Given the description of an element on the screen output the (x, y) to click on. 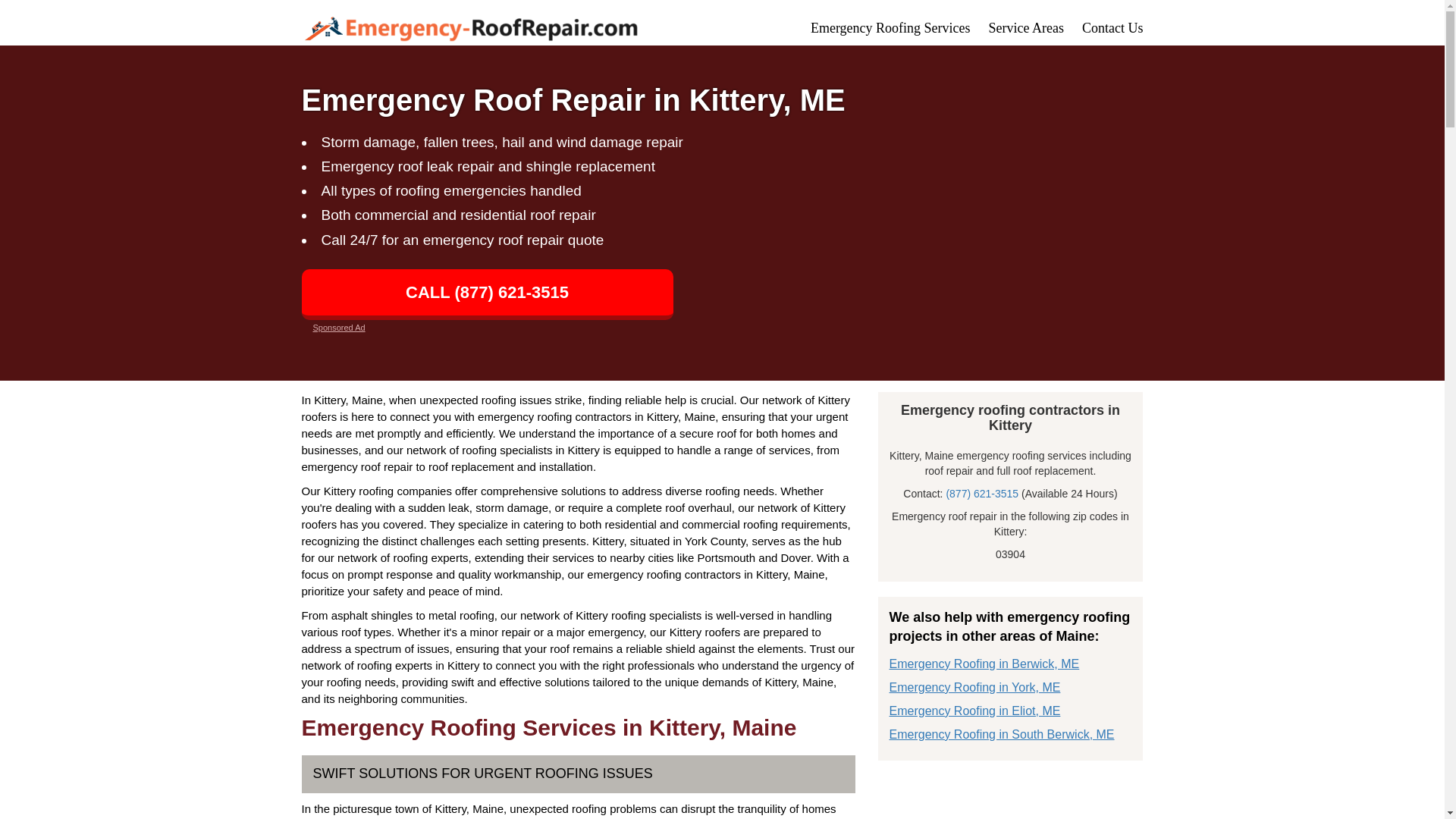
Contact Us (1111, 28)
Service Areas (1026, 28)
Emergency Roofing in York, ME (973, 686)
Emergency Roofing Services (890, 28)
Get a Quote (1111, 28)
Service Areas (1026, 28)
Sponsored Ad (339, 327)
Emergency roof repair in South Berwick, ME (1000, 734)
Emergency roof repair in York, ME (973, 686)
Emergency Roofing Services (890, 28)
Emergency Roofing in Eliot, ME (973, 710)
Emergency Roofing in Berwick, ME (983, 663)
Emergency roof repair in Berwick, ME (983, 663)
Emergency roof repair in Eliot, ME (973, 710)
Emergency Roofing in South Berwick, ME (1000, 734)
